Given the description of an element on the screen output the (x, y) to click on. 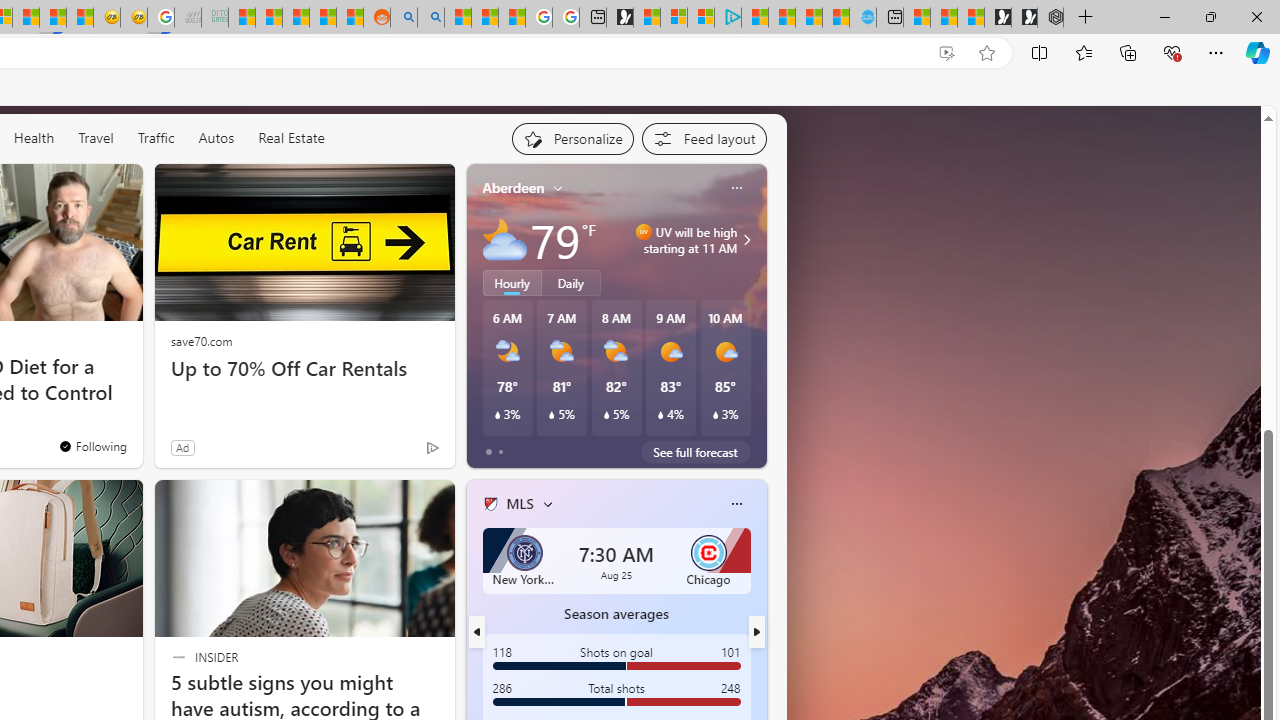
tab-1 (500, 451)
Utah sues federal government - Search (431, 17)
My location (558, 187)
See full forecast (695, 451)
